Given the description of an element on the screen output the (x, y) to click on. 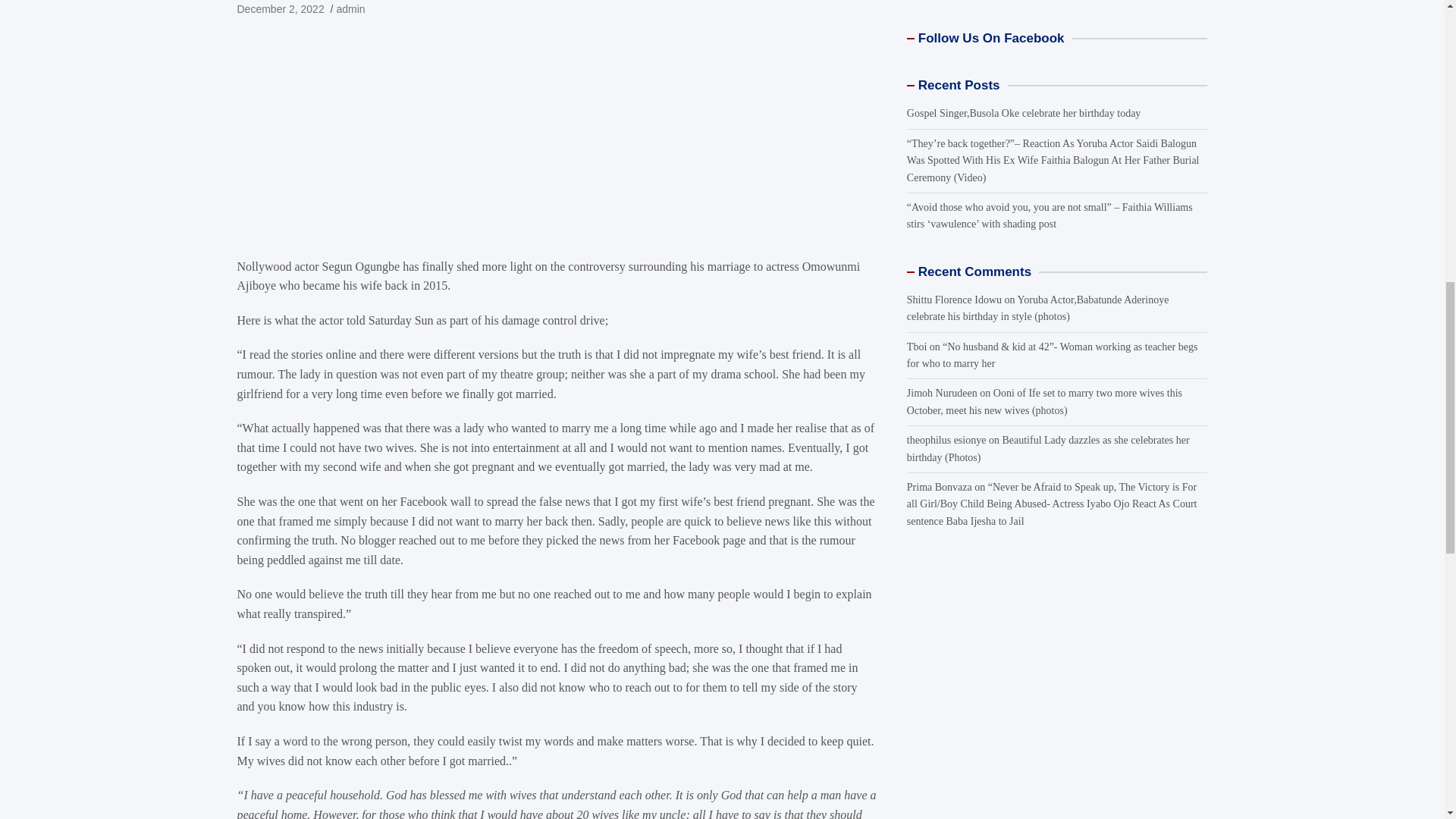
December 2, 2022 (279, 9)
admin (350, 9)
